Given the description of an element on the screen output the (x, y) to click on. 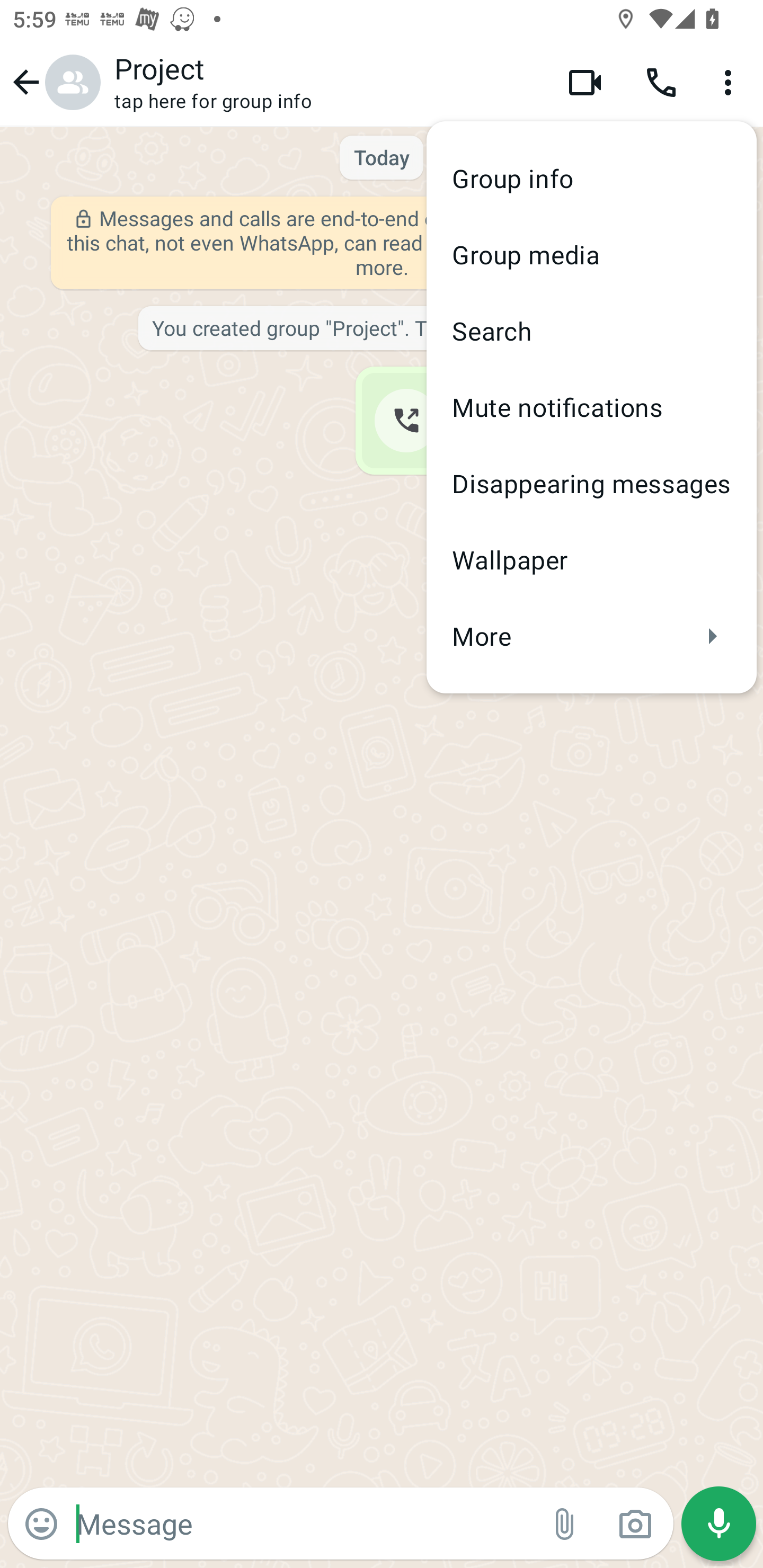
Group info (591, 178)
Group media (591, 254)
Search (591, 330)
Mute notifications (591, 406)
Disappearing messages (591, 483)
Wallpaper (591, 559)
More (591, 635)
